Given the description of an element on the screen output the (x, y) to click on. 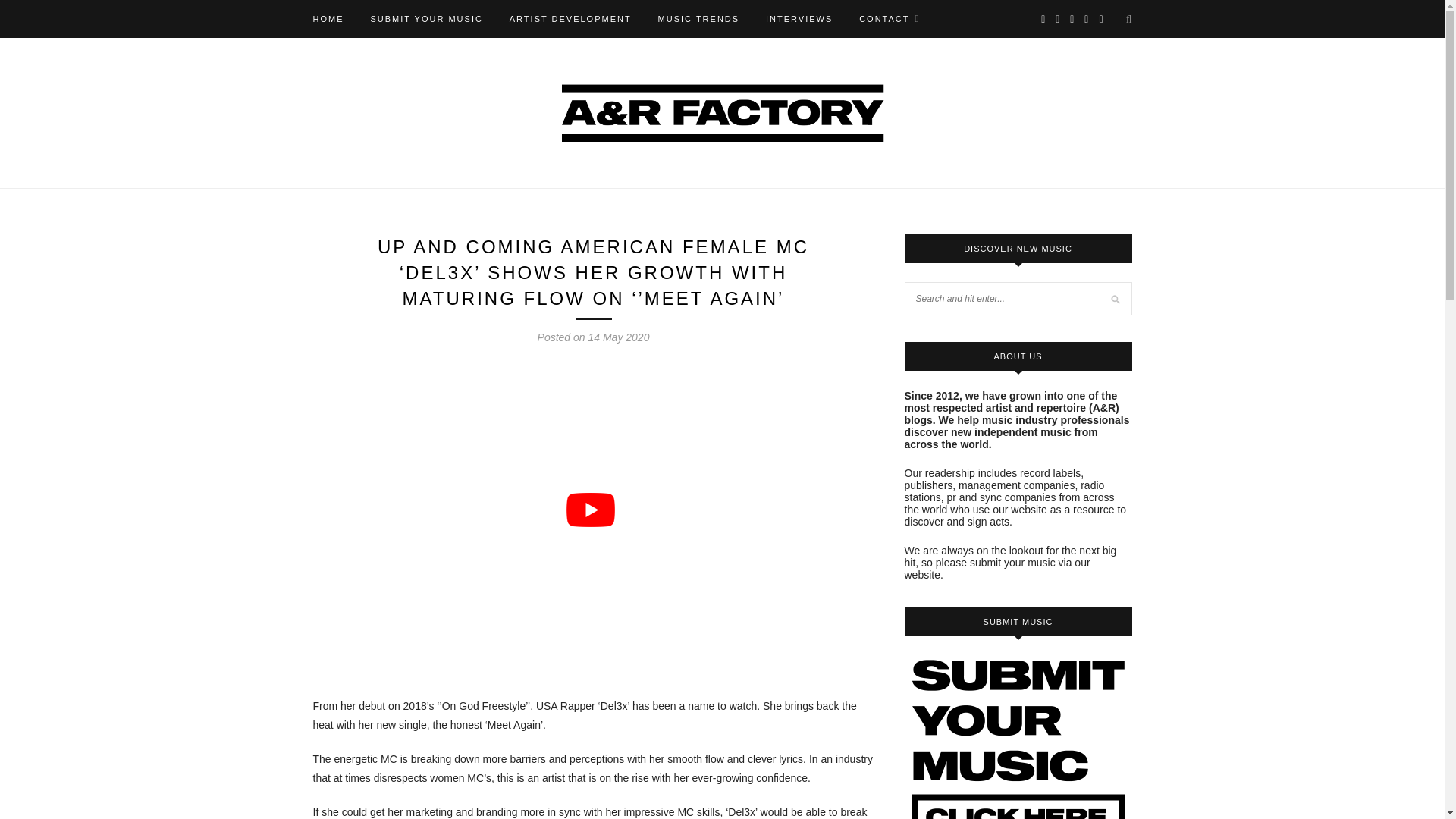
ARTIST DEVELOPMENT (570, 18)
CONTACT (889, 18)
SUBMIT YOUR MUSIC (426, 18)
MUSIC TRENDS (698, 18)
INTERVIEWS (798, 18)
